Given the description of an element on the screen output the (x, y) to click on. 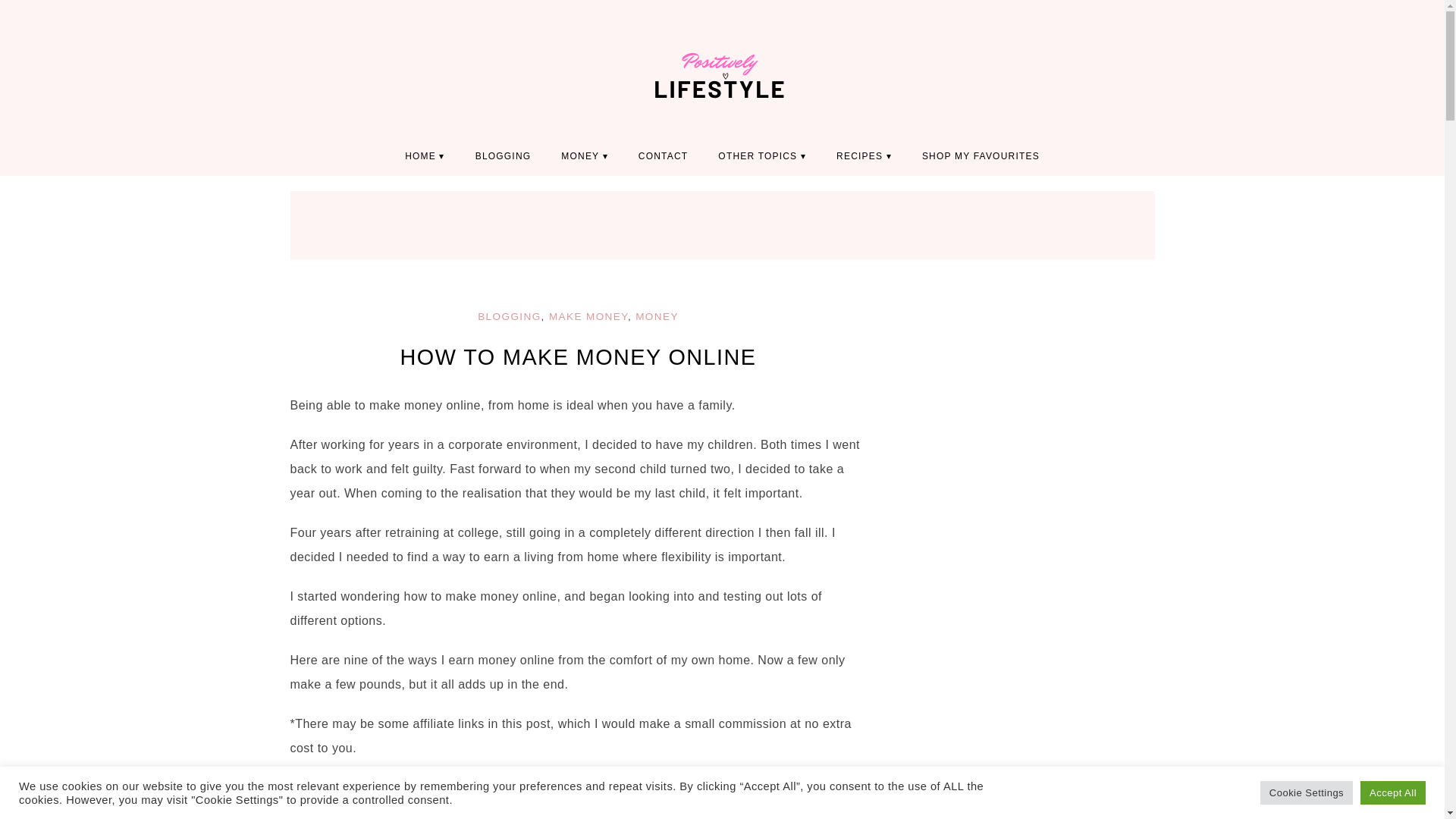
How To Make Money Online (578, 356)
BLOGGING (503, 156)
MONEY (584, 156)
OTHER TOPICS (762, 156)
CONTACT (663, 156)
MAKE MONEY (587, 316)
MONEY (656, 316)
SHOP MY FAVOURITES (980, 156)
HOW TO MAKE MONEY ONLINE (578, 356)
HOME (425, 156)
BLOGGING (508, 316)
RECIPES (864, 156)
